Given the description of an element on the screen output the (x, y) to click on. 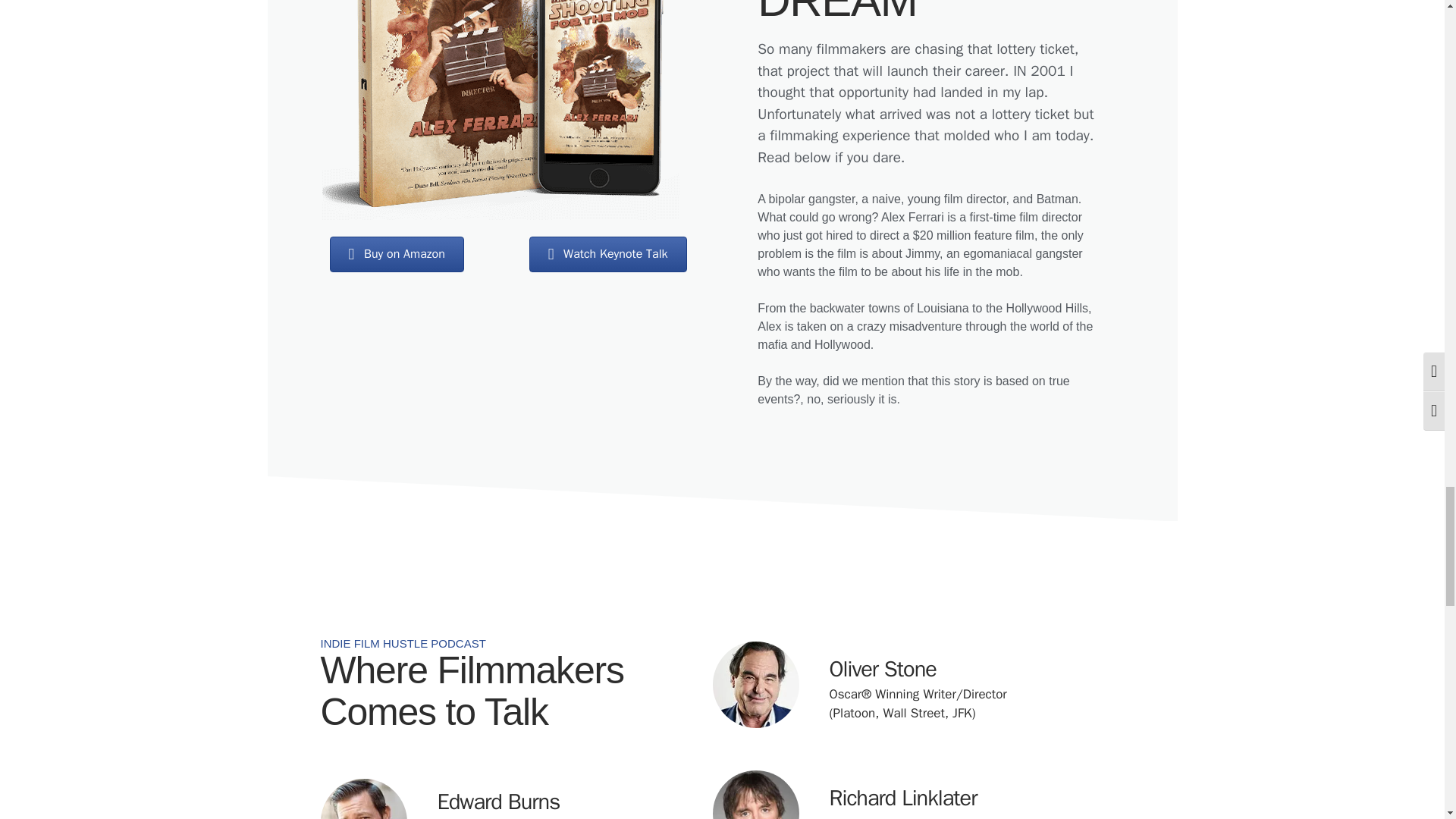
Buy on Amazon (397, 253)
Edward Burns (497, 801)
Richard Linklater (902, 797)
Watch Keynote Talk (608, 253)
Oliver Stone (882, 669)
